Given the description of an element on the screen output the (x, y) to click on. 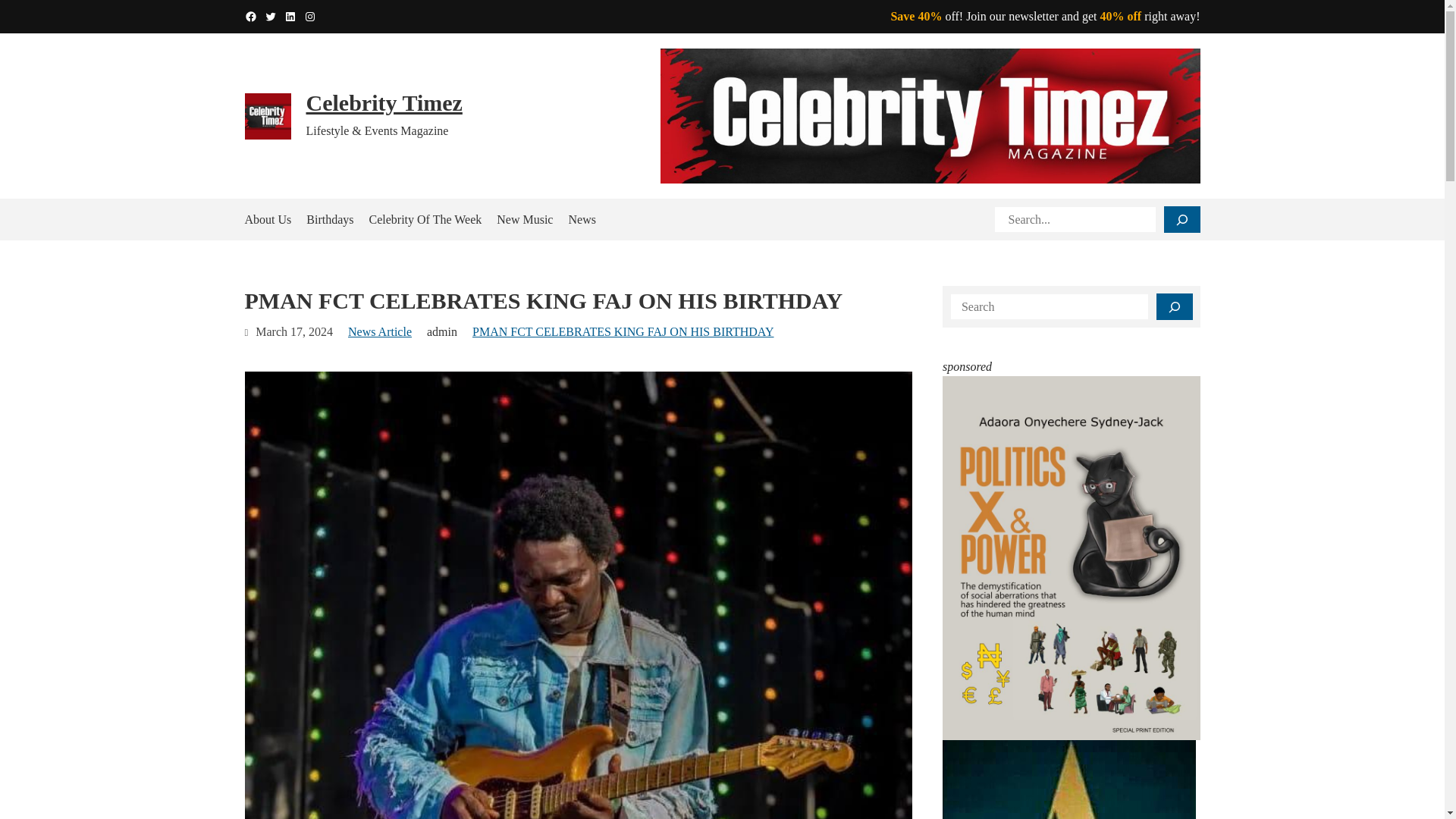
About Us (267, 219)
Birthdays (329, 219)
Twitter (269, 16)
Celebrity Of The Week (424, 219)
Celebrity Timez (384, 102)
New Music (524, 219)
Instagram (308, 16)
LinkedIn (289, 16)
Facebook (250, 16)
PMAN FCT CELEBRATES KING FAJ ON HIS BIRTHDAY (622, 331)
